Given the description of an element on the screen output the (x, y) to click on. 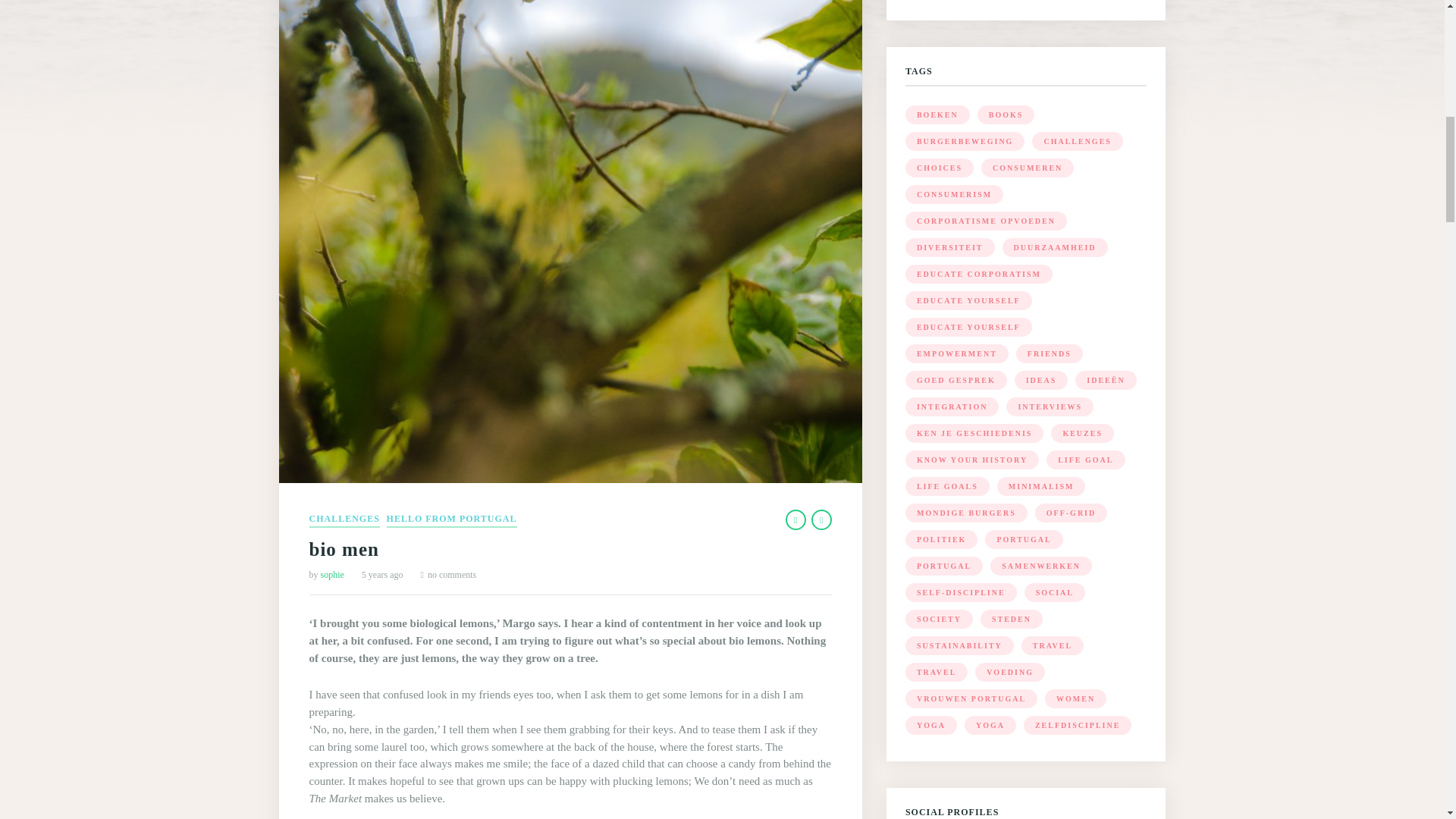
Posts by sophie (331, 574)
sophie (331, 574)
EDUCATE CORPORATISM (978, 273)
CHALLENGES (1077, 140)
CONSUMERISM (954, 194)
BURGERBEWEGING (965, 140)
DUURZAAMHEID (1055, 247)
DIVERSITEIT (949, 247)
EDUCATE YOURSELF (968, 300)
EDUCATE YOURSELF (968, 326)
BOEKEN (937, 114)
CHALLENGES (344, 520)
CONSUMEREN (1027, 167)
HELLO FROM PORTUGAL (451, 520)
CHOICES (939, 167)
